Given the description of an element on the screen output the (x, y) to click on. 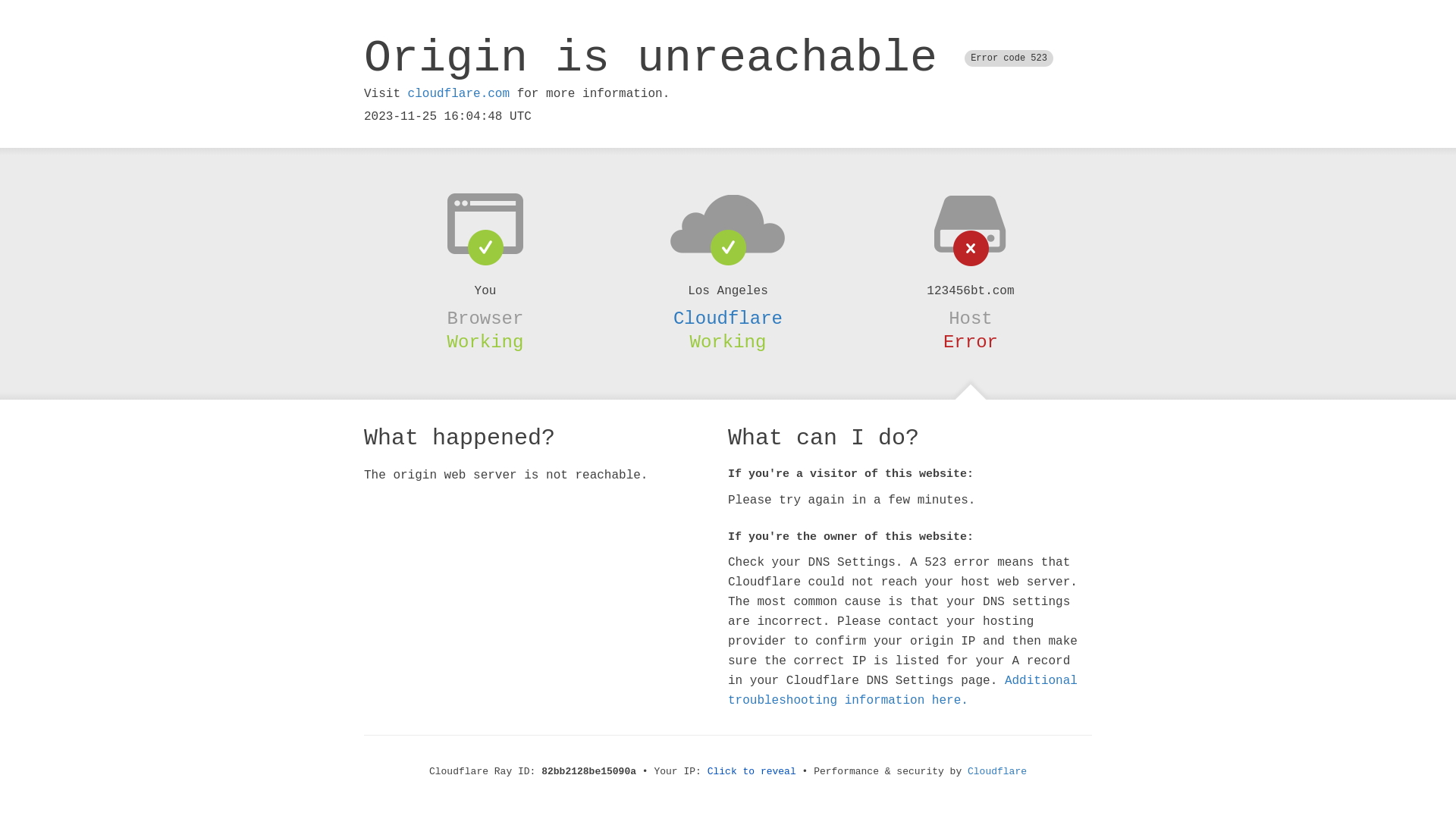
Additional troubleshooting information here. Element type: text (902, 690)
Click to reveal Element type: text (751, 771)
Cloudflare Element type: text (727, 318)
cloudflare.com Element type: text (458, 93)
Cloudflare Element type: text (996, 771)
